Given the description of an element on the screen output the (x, y) to click on. 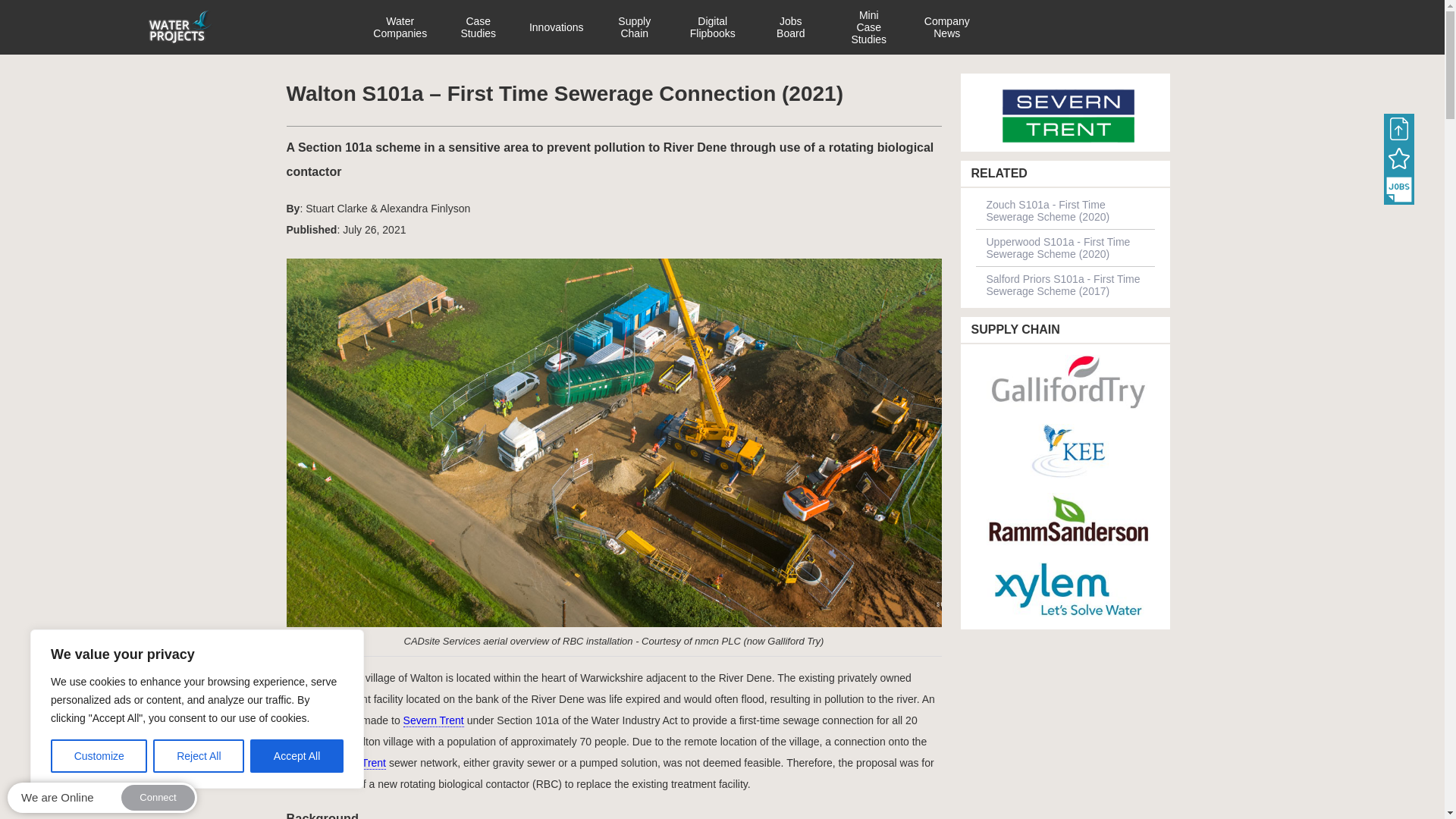
Jobs Board (790, 27)
Xylem Water Solutions UK Ltd (1064, 590)
KEE Process (1064, 451)
Case Studies (477, 27)
Jobs Board (1398, 189)
Accept All (296, 756)
RammSanderson (1064, 521)
Galliford Try (1064, 382)
Digital Flipbooks (712, 27)
Water Companies (399, 27)
Innovations (556, 27)
Customize (98, 756)
Reject All (198, 756)
Supply Chain (633, 27)
Severn Trent (1064, 116)
